Given the description of an element on the screen output the (x, y) to click on. 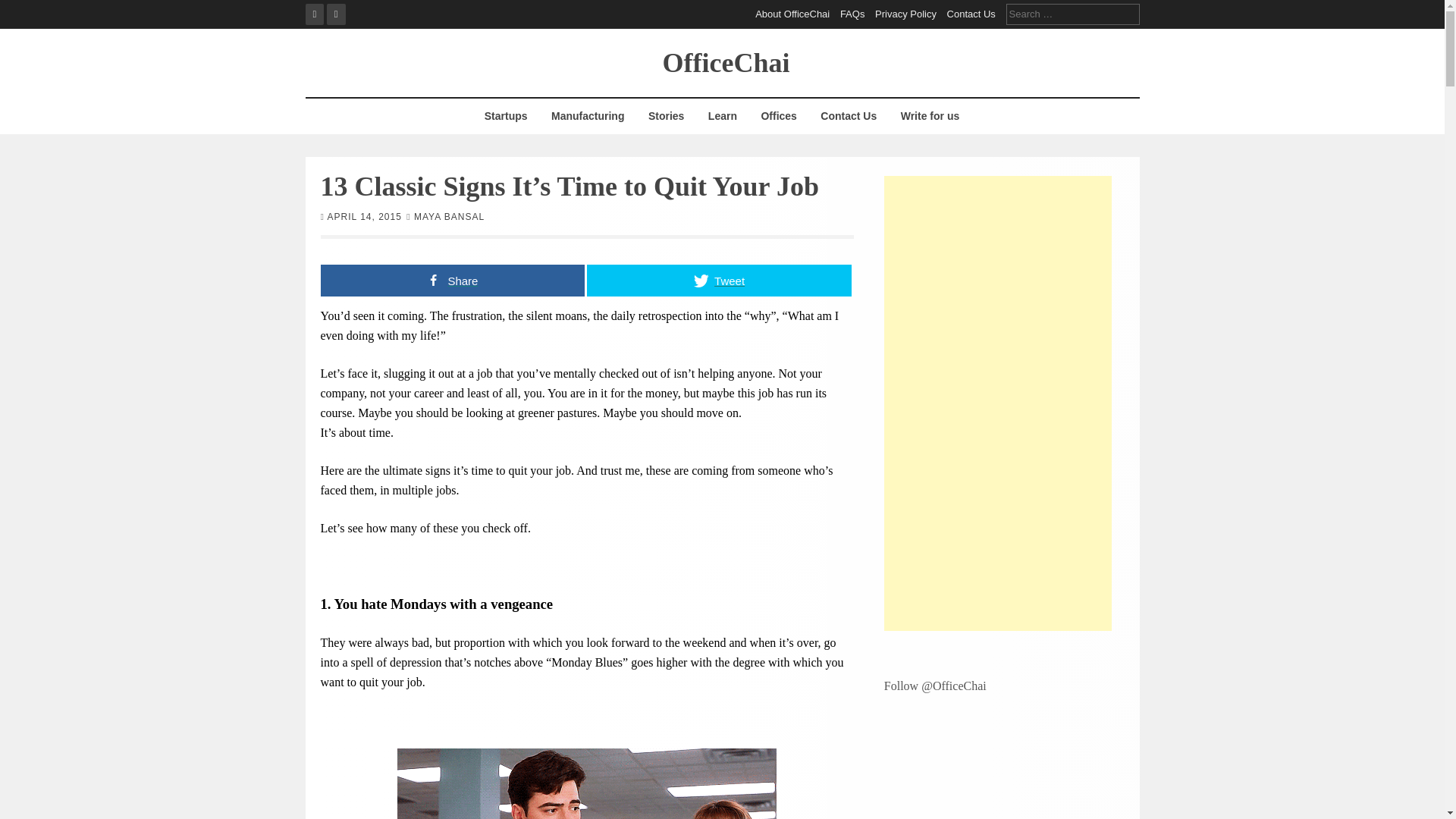
Contact Us (971, 13)
MAYA BANSAL (448, 215)
Share (452, 279)
Stories (666, 116)
Offices (778, 116)
Search (23, 9)
Privacy Policy (905, 13)
Write for us (930, 116)
Startups (505, 116)
Manufacturing (587, 116)
OfficeChai (726, 61)
Tweet (718, 279)
APRIL 14, 2015 (364, 215)
FAQs (852, 13)
